Given the description of an element on the screen output the (x, y) to click on. 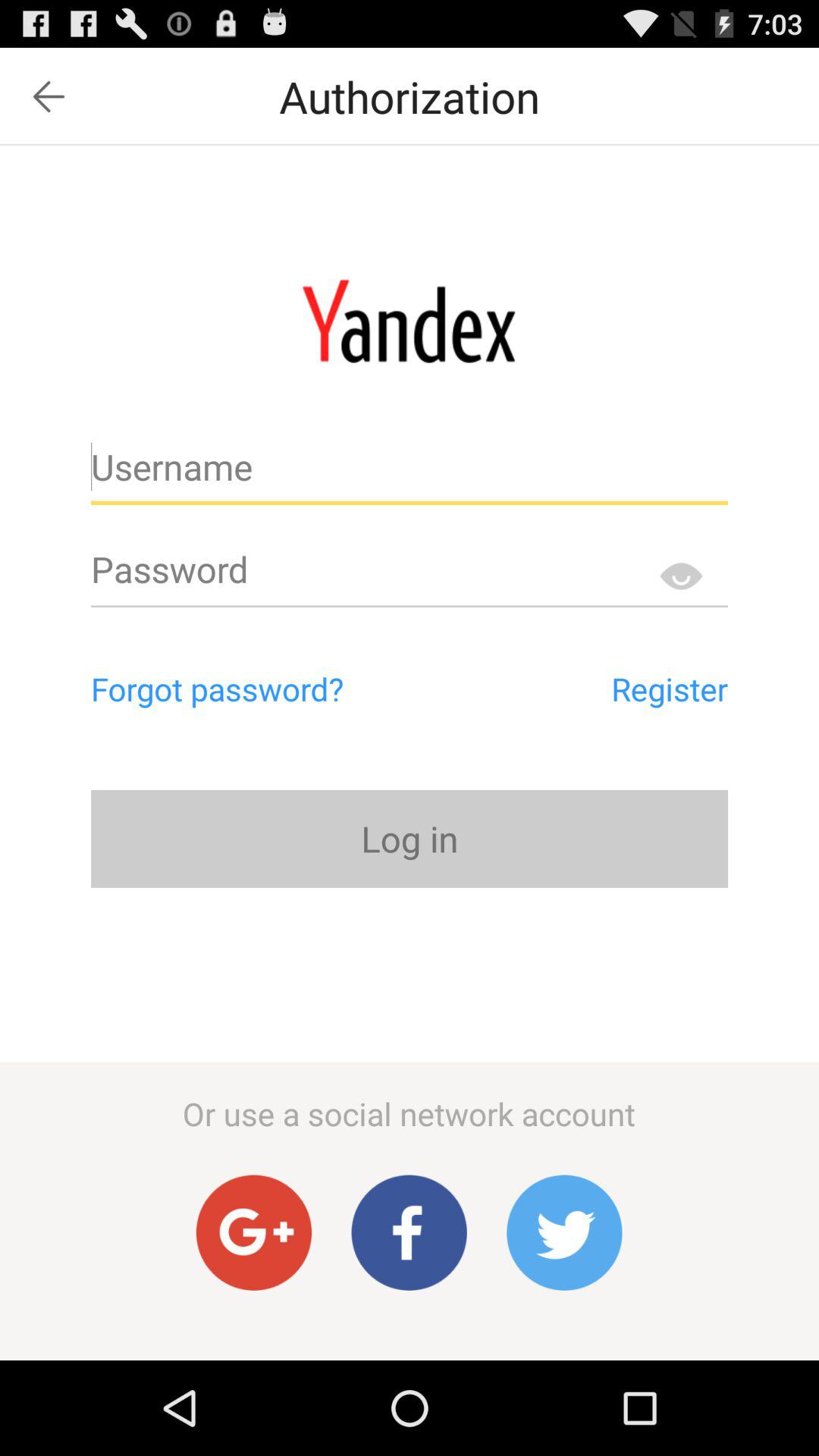
this field is for entering your username (409, 473)
